Given the description of an element on the screen output the (x, y) to click on. 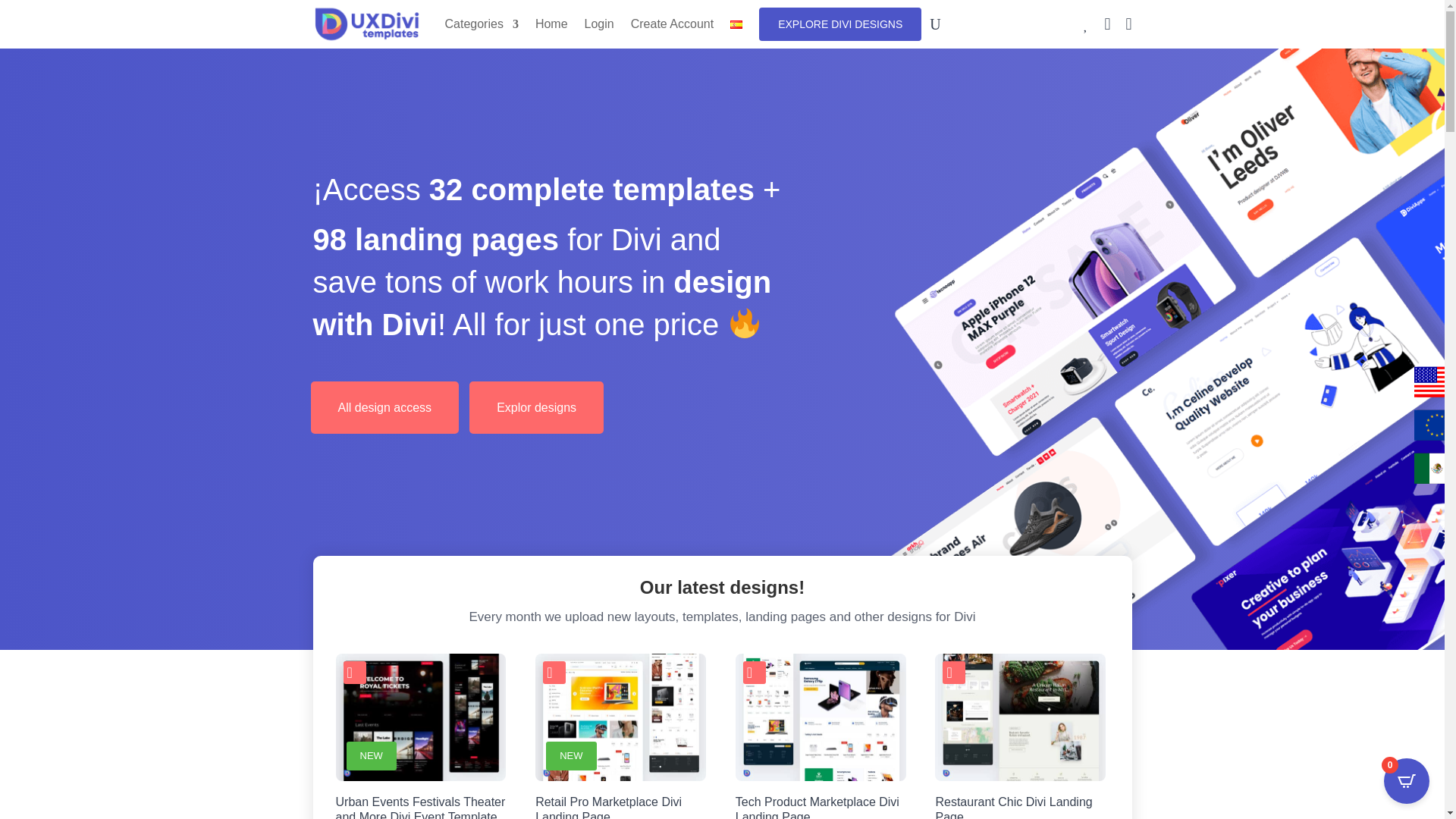
Create Account (671, 24)
NEW (419, 717)
Explor designs (536, 407)
Categories (481, 24)
Tech Product Marketplace Divi Landing Page (820, 803)
Restaurant Chic Divi Landing Page (1019, 803)
NEW (620, 717)
Retail Pro Marketplace Divi Landing Page (620, 803)
EXPLORE DIVI DESIGNS (839, 23)
Urban Events Festivals Theater and More Divi Event Template (419, 803)
All design access (385, 407)
